Given the description of an element on the screen output the (x, y) to click on. 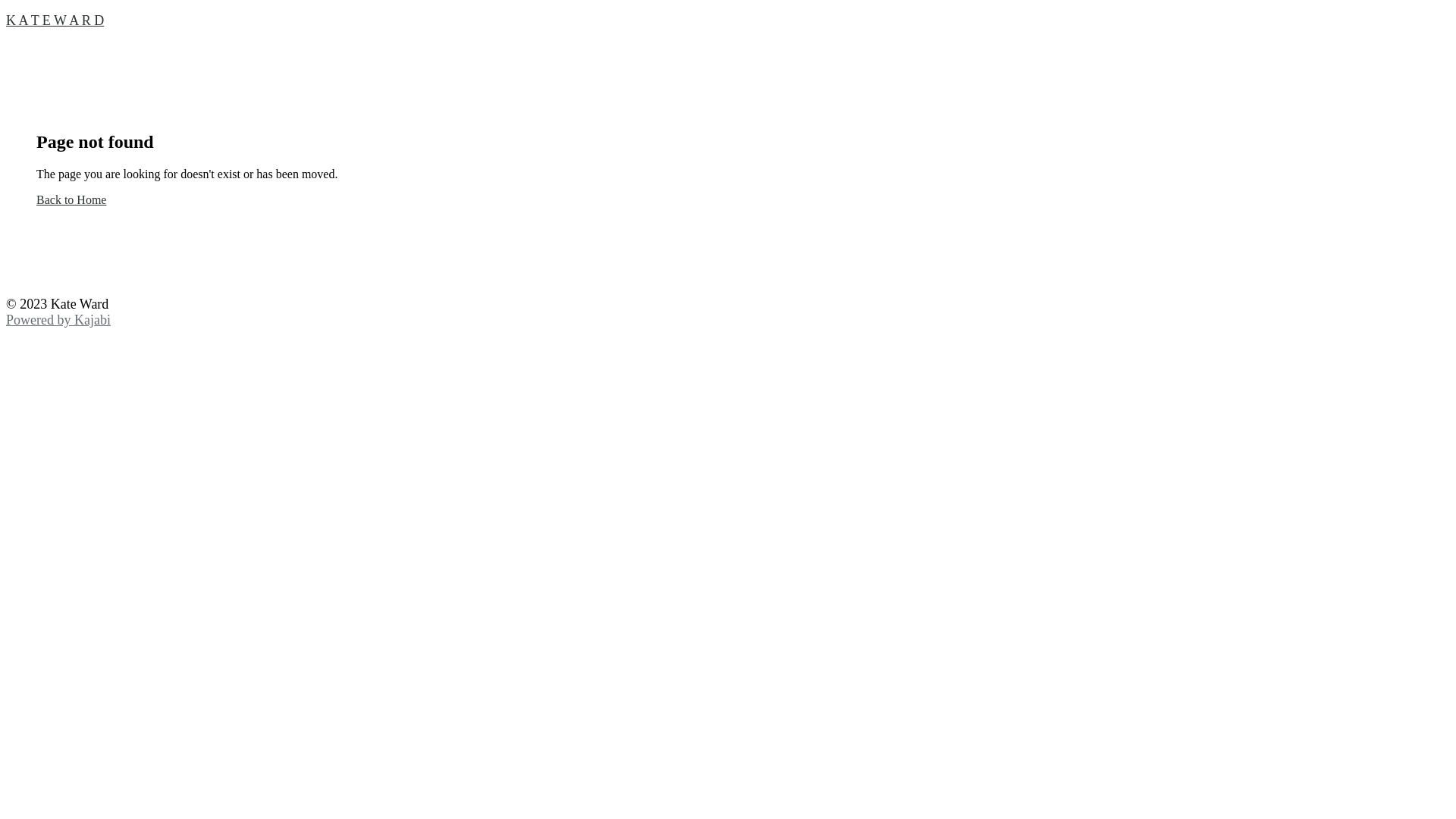
Powered by Kajabi Element type: text (58, 319)
Back to Home Element type: text (71, 199)
K A T E W A R D Element type: text (727, 20)
